Given the description of an element on the screen output the (x, y) to click on. 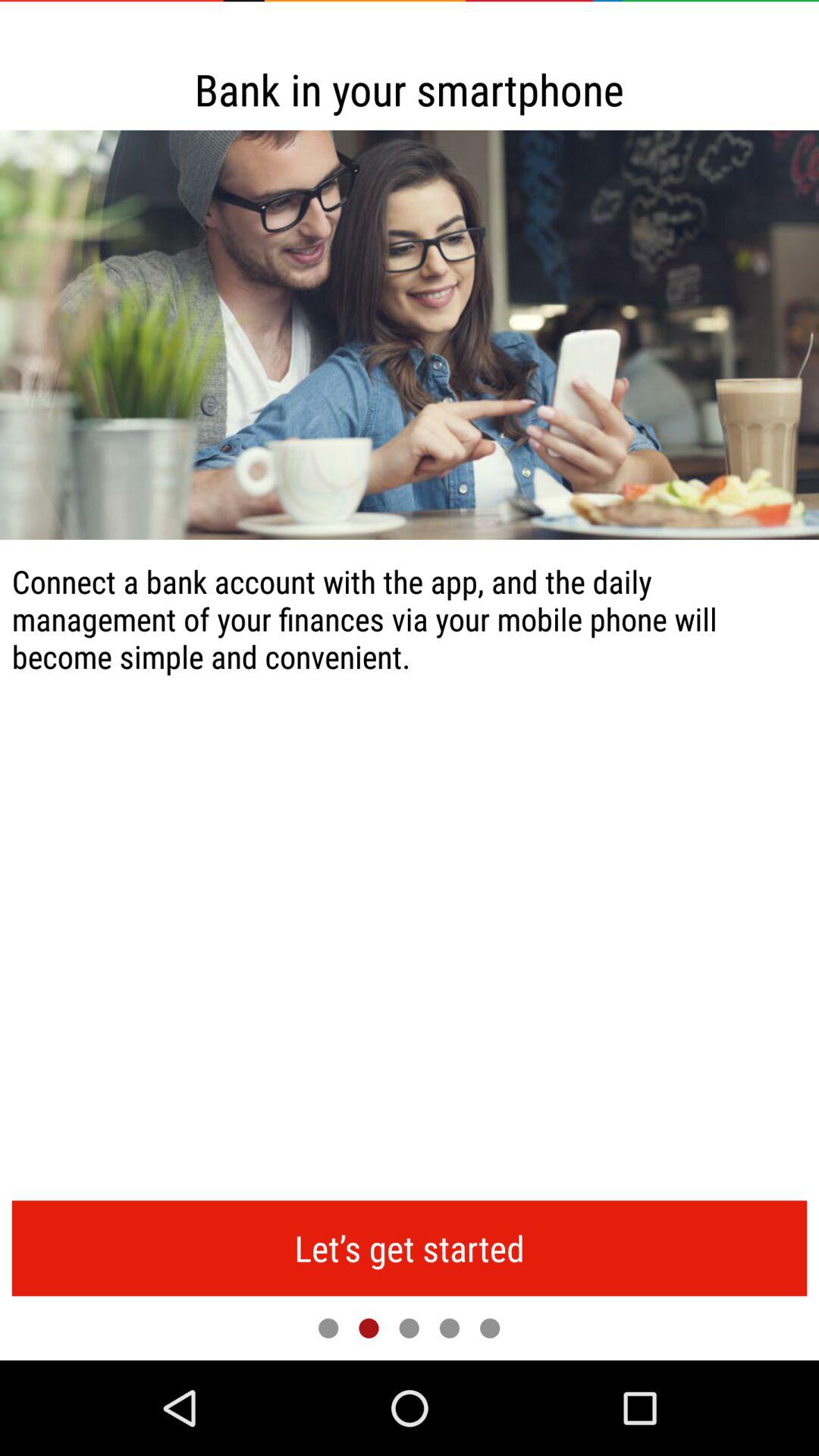
change page (409, 1328)
